Given the description of an element on the screen output the (x, y) to click on. 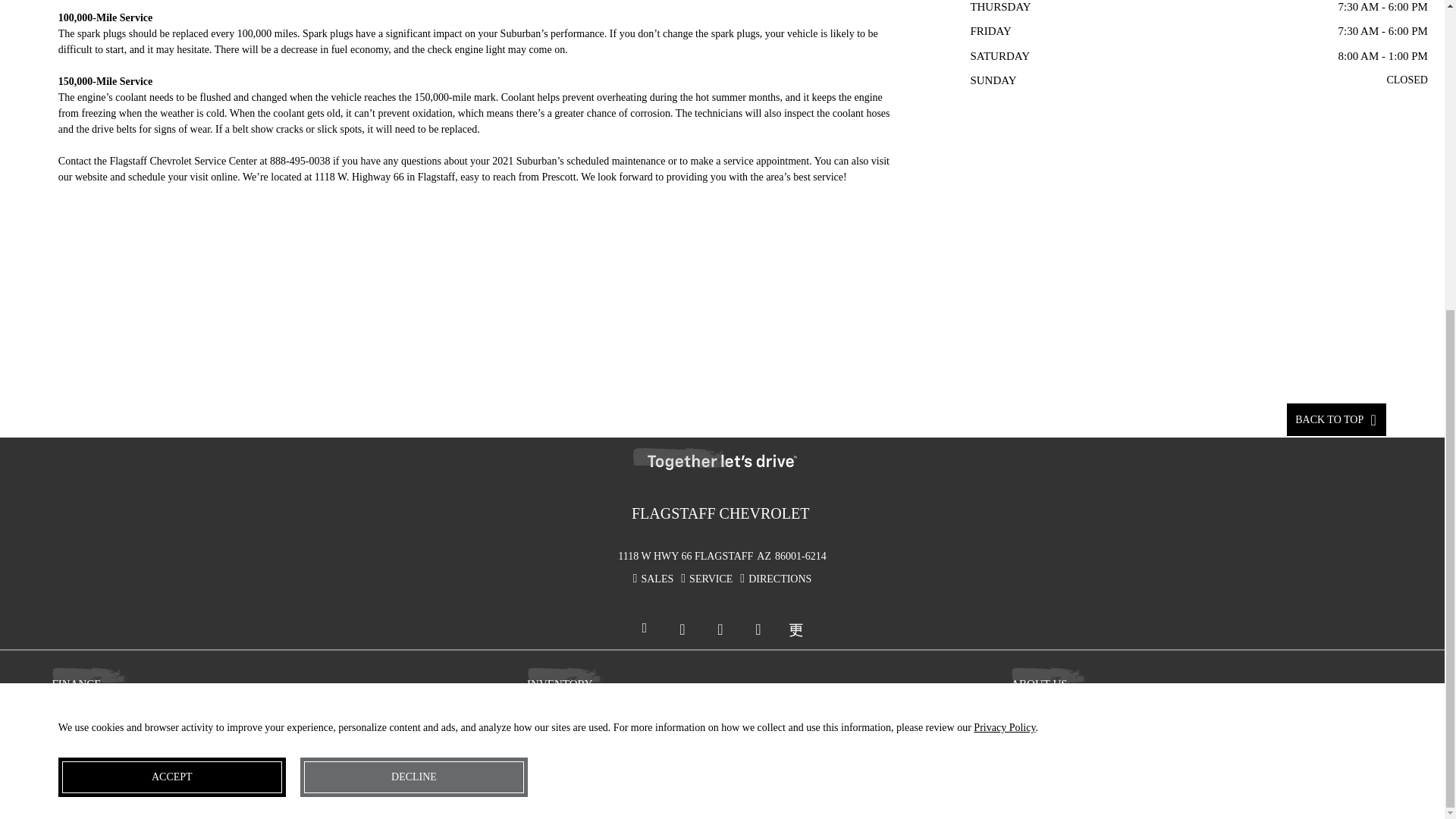
Shop New (640, 705)
Accept (171, 285)
Get a Quick Quote (164, 721)
Privacy Policy (1124, 737)
Used Cars Flagstaff (640, 737)
Model Showroom (640, 753)
Back to Top (1336, 419)
Privacy Policy (1004, 235)
Finance Pre-Qualification Form (164, 705)
Shop Pre-Owned (640, 721)
Value Your Trade (164, 737)
Decline (413, 285)
Flagstaff Rental Car (1124, 753)
Meet Our Staff (1124, 705)
